Given the description of an element on the screen output the (x, y) to click on. 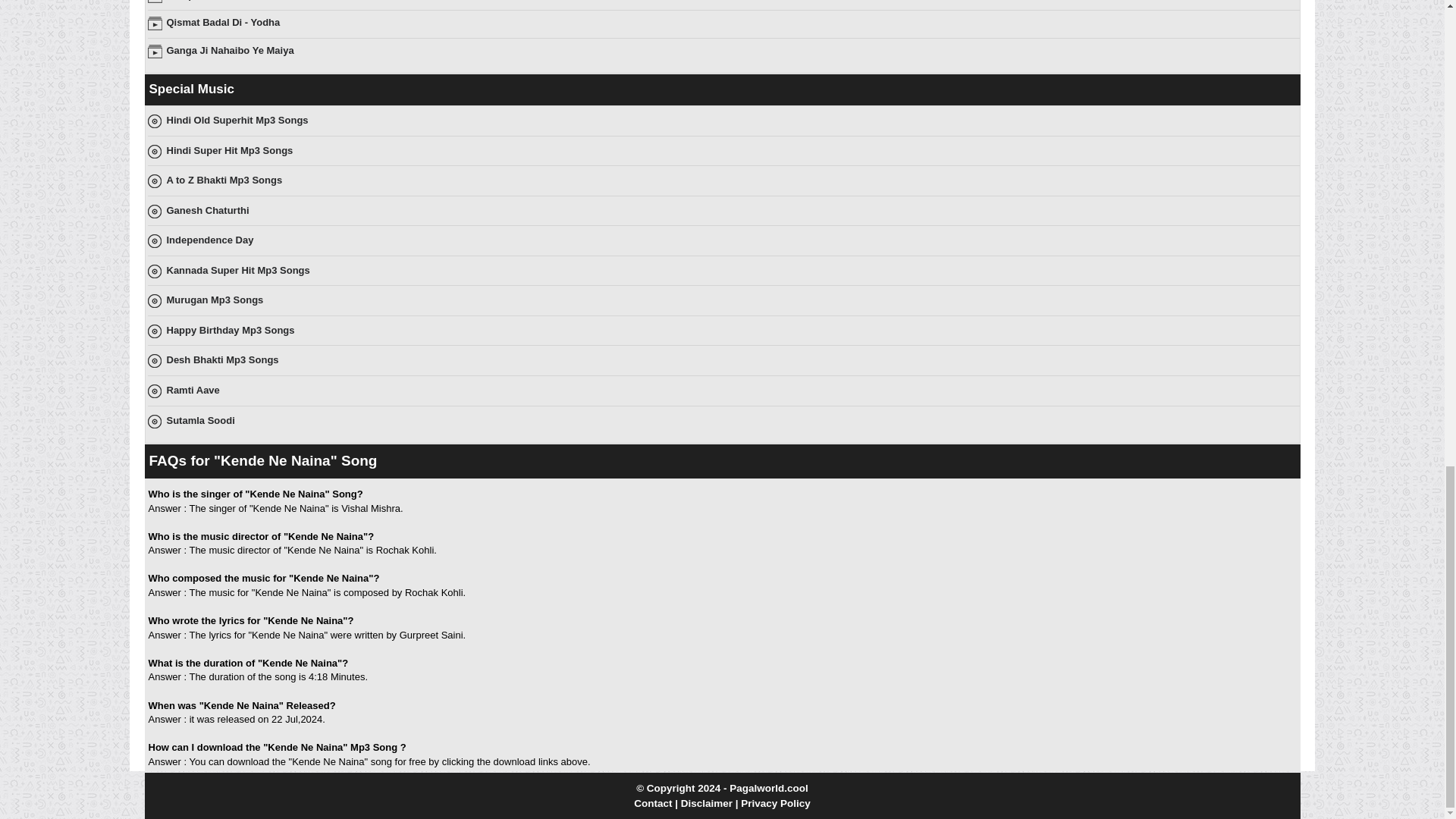
Qismat Badal Di - Yodha (224, 21)
Hindi Super Hit Mp3 Songs (230, 150)
Murugan Mp3 Songs (215, 299)
Cheques (187, 0)
Hindi Old Superhit Mp3 Songs (237, 120)
Cheques (187, 0)
Qismat Badal Di - Yodha (224, 21)
Ganga Ji Nahaibo Ye Maiya (230, 50)
Ganesh Chaturthi (207, 210)
A to Z Bhakti Mp3 Songs (224, 179)
